Given the description of an element on the screen output the (x, y) to click on. 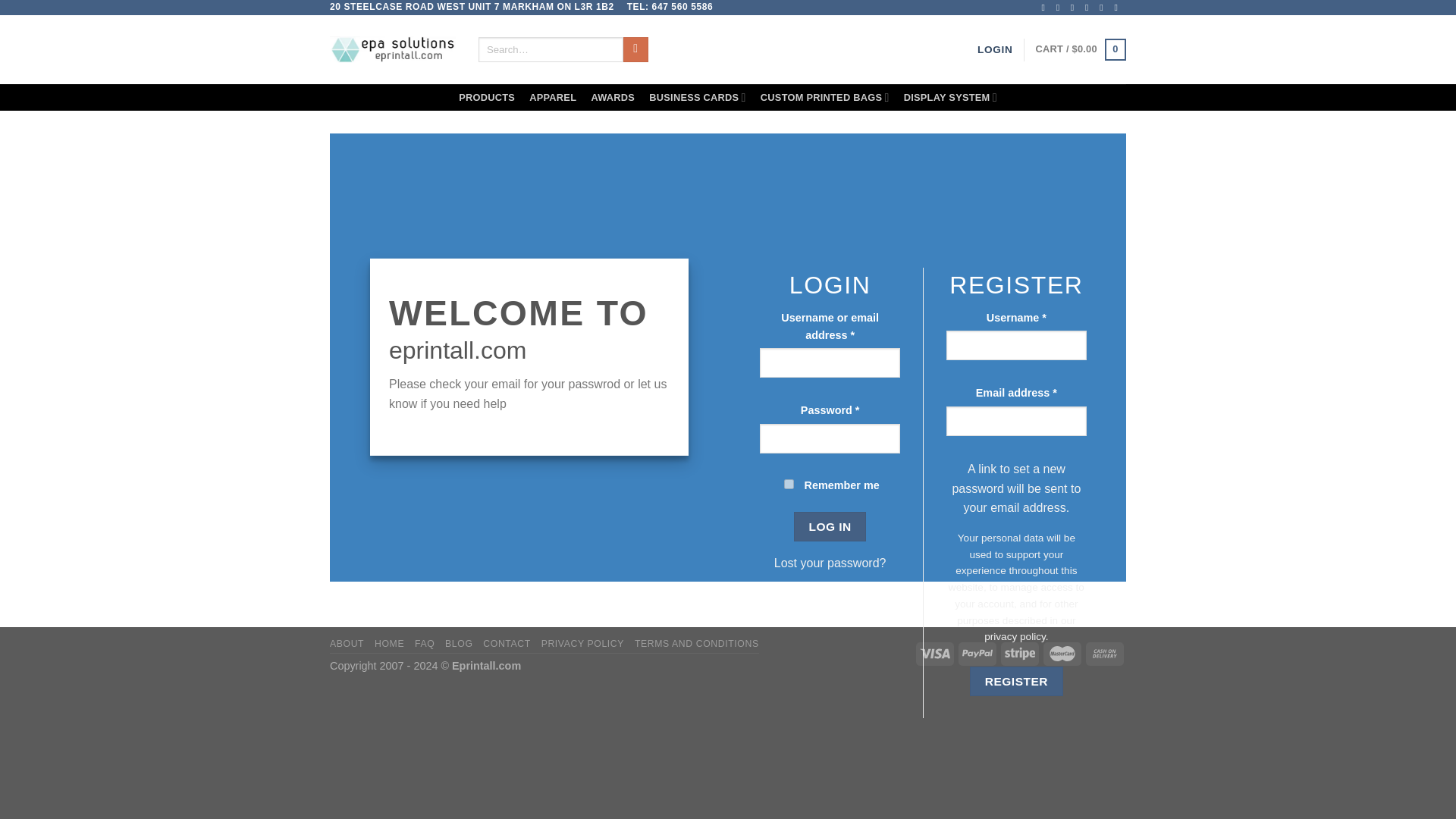
Lost your password? (830, 562)
BUSINESS CARDS (698, 96)
LOG IN (829, 526)
forever (788, 483)
APPAREL (552, 96)
PRODUCTS (486, 96)
REGISTER (1015, 681)
Follow on Facebook (1045, 7)
privacy policy (1014, 636)
DISPLAY SYSTEM (950, 96)
BLOG (458, 643)
Call us (1103, 7)
CUSTOM PRINTED BAGS (824, 96)
Follow on Twitter (1075, 7)
LOGIN (993, 49)
